Given the description of an element on the screen output the (x, y) to click on. 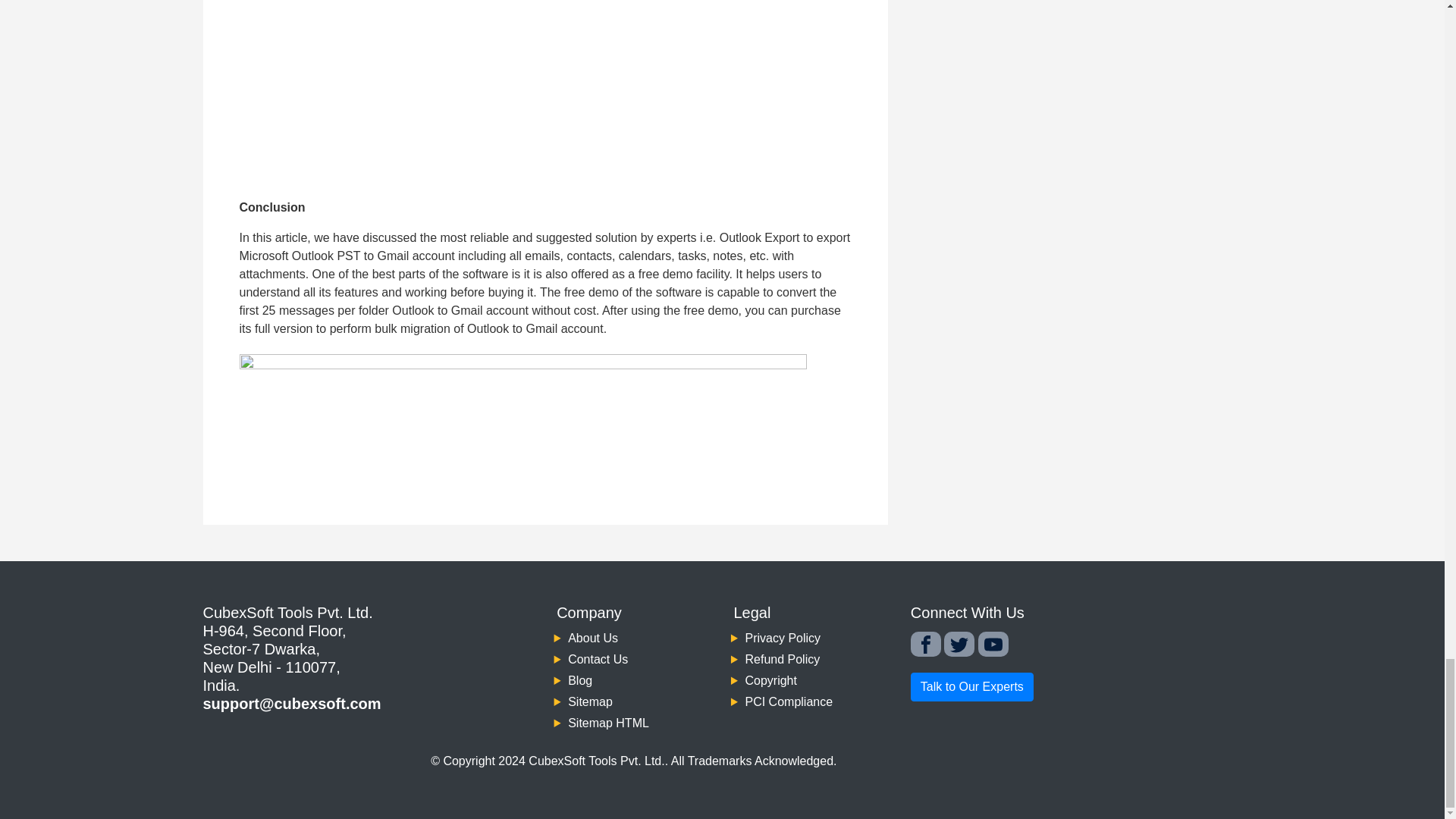
About Us (592, 637)
Privacy Policy (782, 637)
Copyright (770, 680)
Refund Policy (781, 658)
Blog (579, 680)
Sitemap HTML (608, 722)
PCI Compliance (788, 701)
Contact Us (597, 658)
Sitemap (589, 701)
